Given the description of an element on the screen output the (x, y) to click on. 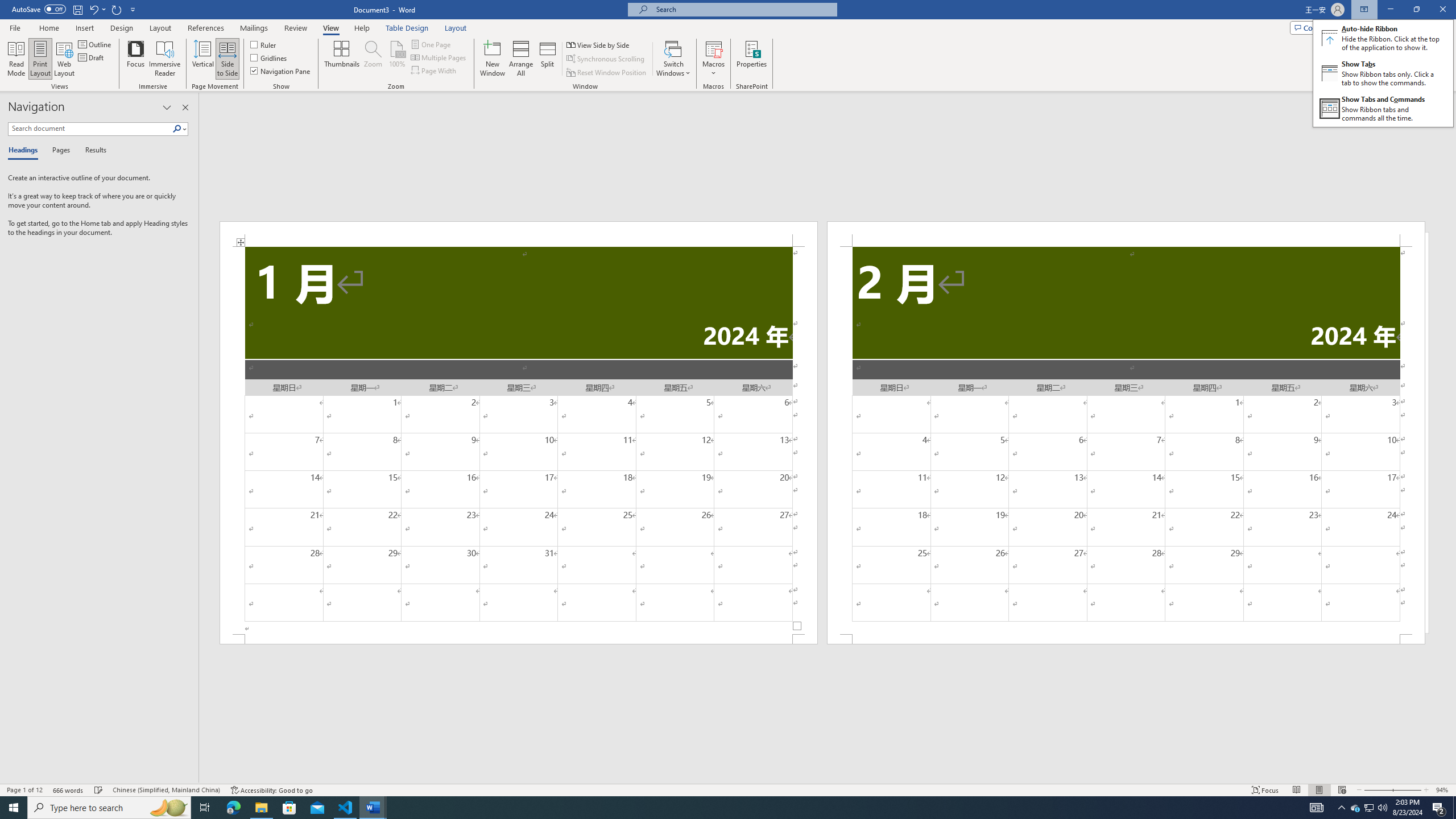
Draft (91, 56)
File Explorer - 1 running window (261, 807)
Header -Section 2- (1126, 233)
Class: MsoCommandBar (728, 789)
Gridlines (269, 56)
Headings (25, 150)
Ruler (263, 44)
Microsoft search (742, 9)
Synchronous Scrolling (605, 58)
Class: NetUIImage (177, 128)
Split (547, 58)
Notification Chevron (1341, 807)
Q2790: 100% (1382, 807)
